Given the description of an element on the screen output the (x, y) to click on. 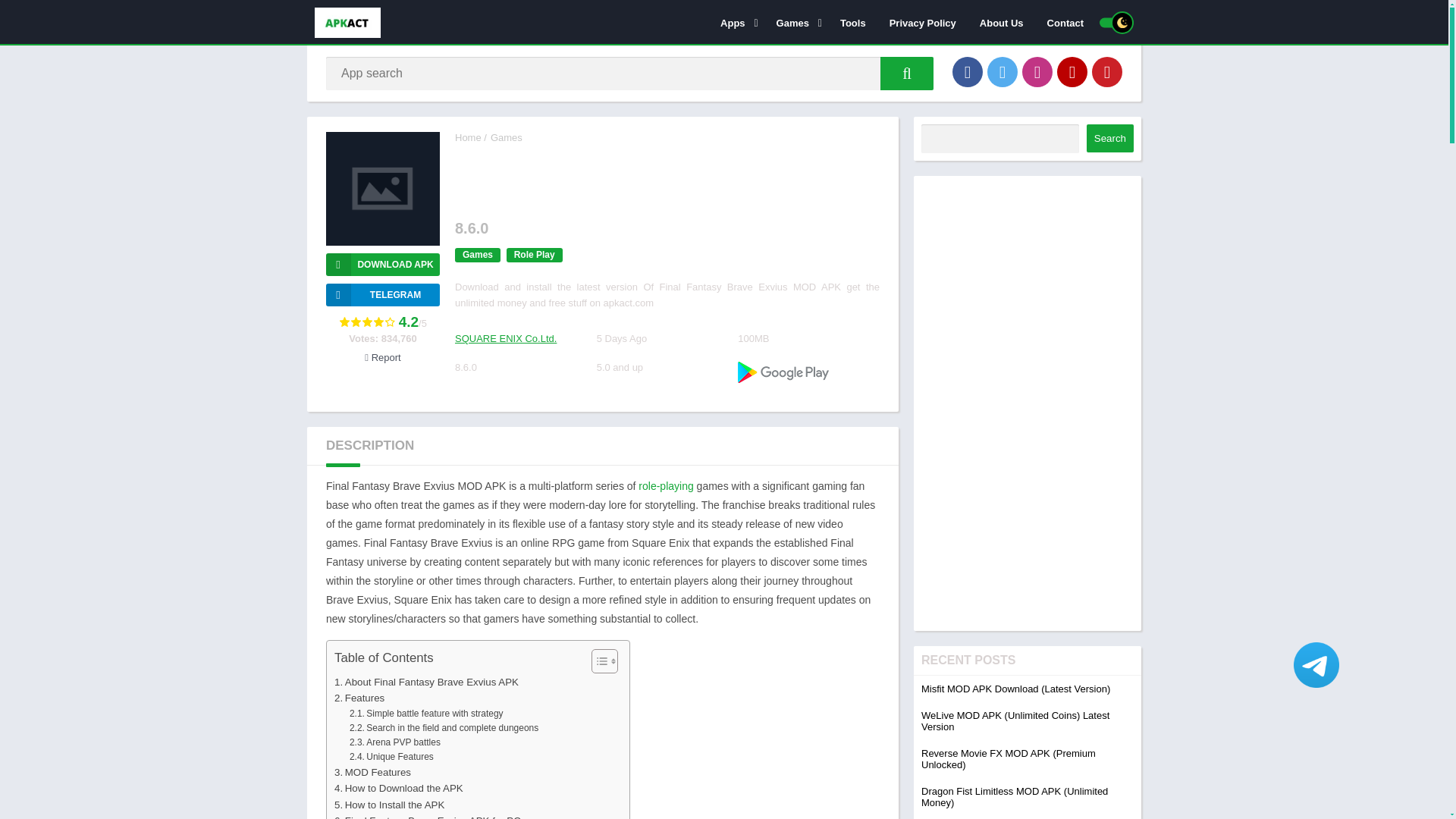
App search (906, 73)
Features (359, 697)
Arena PVP battles (395, 742)
Facebook (967, 71)
Unique Features (391, 757)
YouTube (1072, 71)
Privacy Policy (922, 22)
Twitter (1002, 71)
Contact (1064, 22)
Telegram (382, 294)
Apps (736, 22)
Pinterest (1107, 71)
How to Download the APK (398, 788)
Search in the field and complete dungeons (443, 728)
Tools (852, 22)
